Given the description of an element on the screen output the (x, y) to click on. 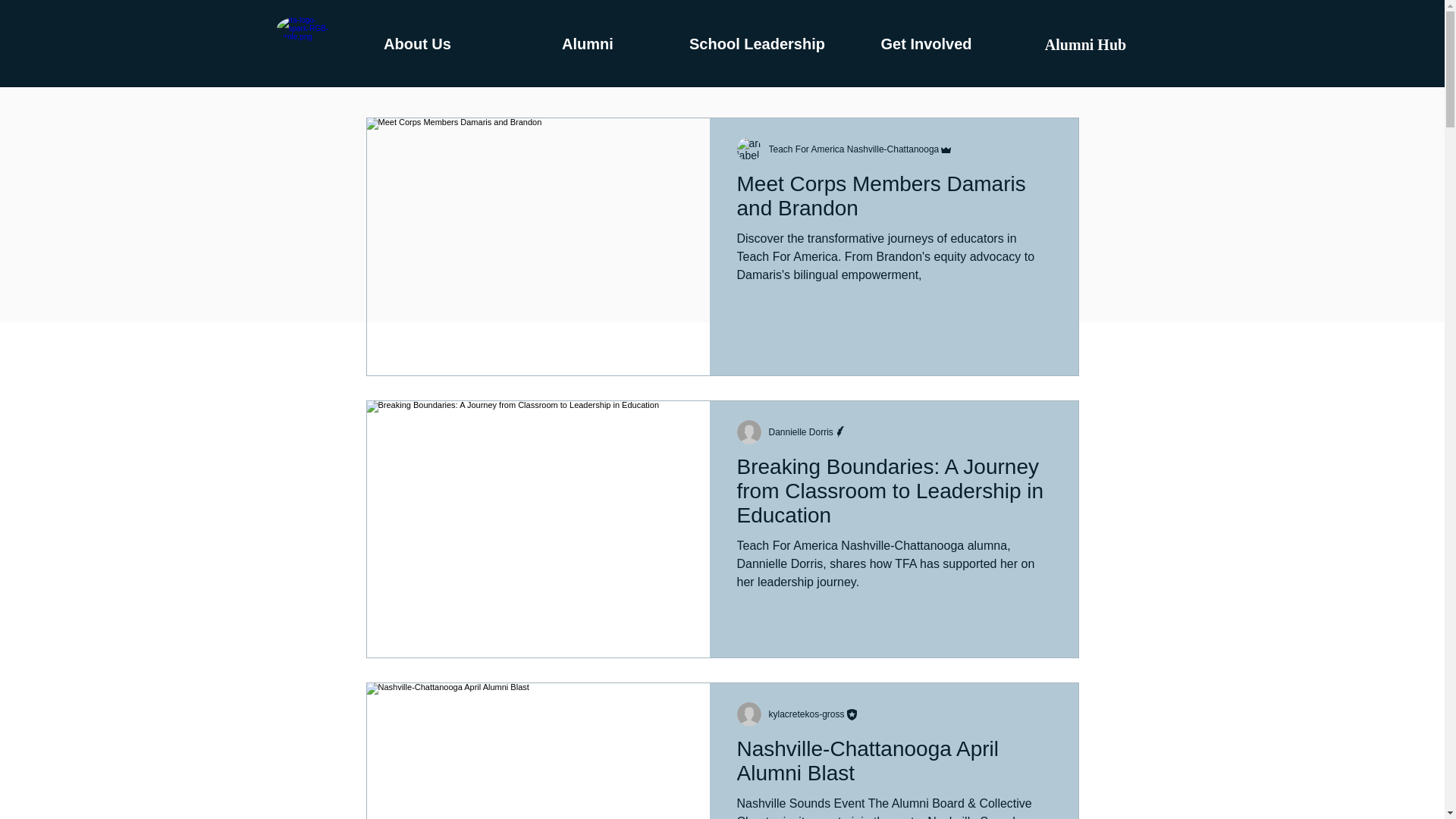
Get Involved (925, 43)
Dannielle Dorris (800, 430)
School Leadership (756, 43)
kylacretekos-gross (806, 714)
Alumni (587, 43)
Teach For America Nashville-Chattanooga (853, 149)
About Us (416, 43)
Alumni Hub (1085, 44)
